Given the description of an element on the screen output the (x, y) to click on. 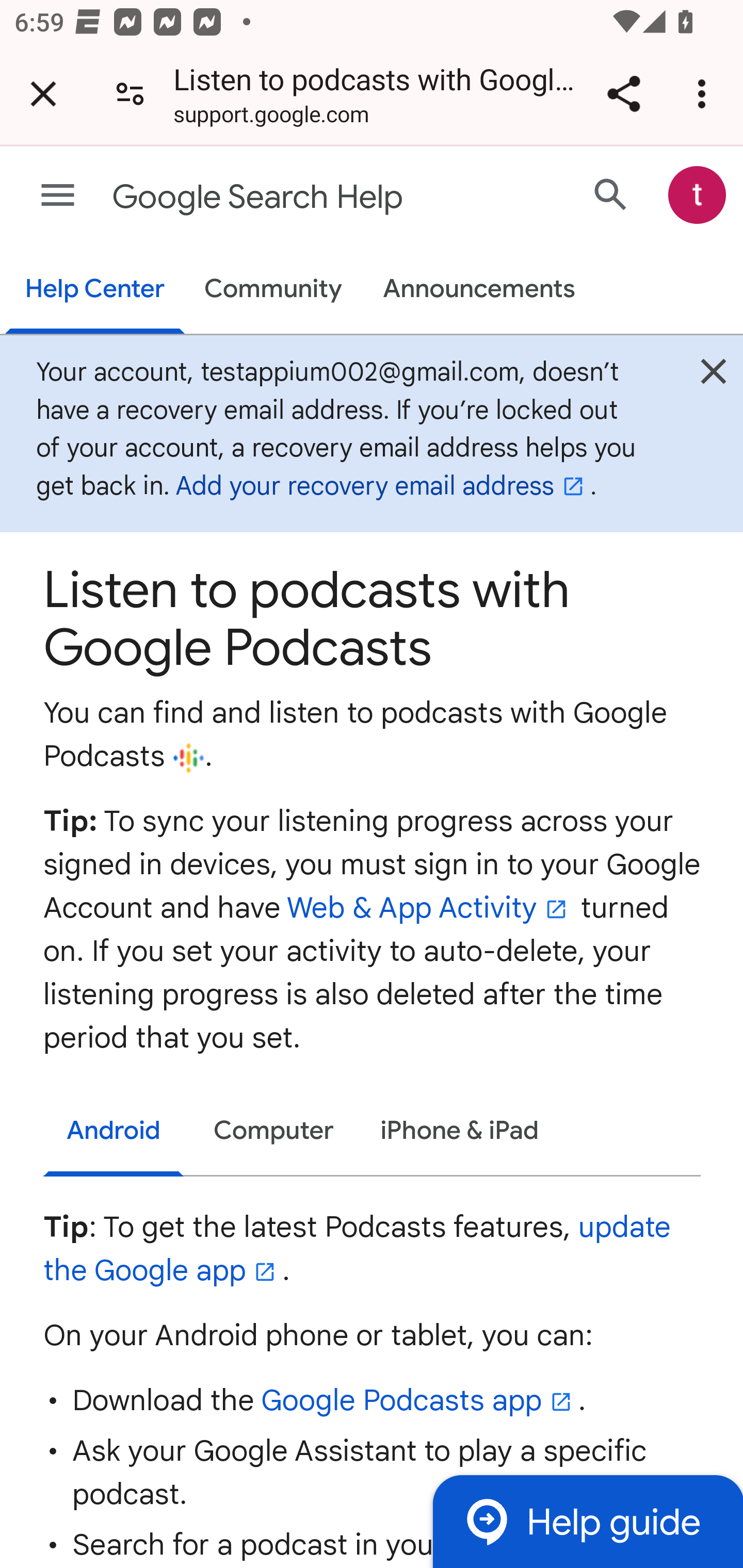
Close tab (43, 93)
Share (623, 93)
Customize and control Google Chrome (705, 93)
Connection is secure (129, 93)
support.google.com (271, 117)
Main menu (58, 195)
Google Search Help (292, 197)
Search Help Center (611, 194)
Help Center (94, 289)
Community (273, 289)
Announcements (478, 289)
Close (713, 376)
Add your recovery email address (383, 485)
Web & App Activity (429, 906)
Android (113, 1131)
Computer (273, 1129)
iPhone & iPad (459, 1129)
update the Google app (357, 1247)
Google Podcasts app (419, 1400)
Help guide (587, 1520)
